Given the description of an element on the screen output the (x, y) to click on. 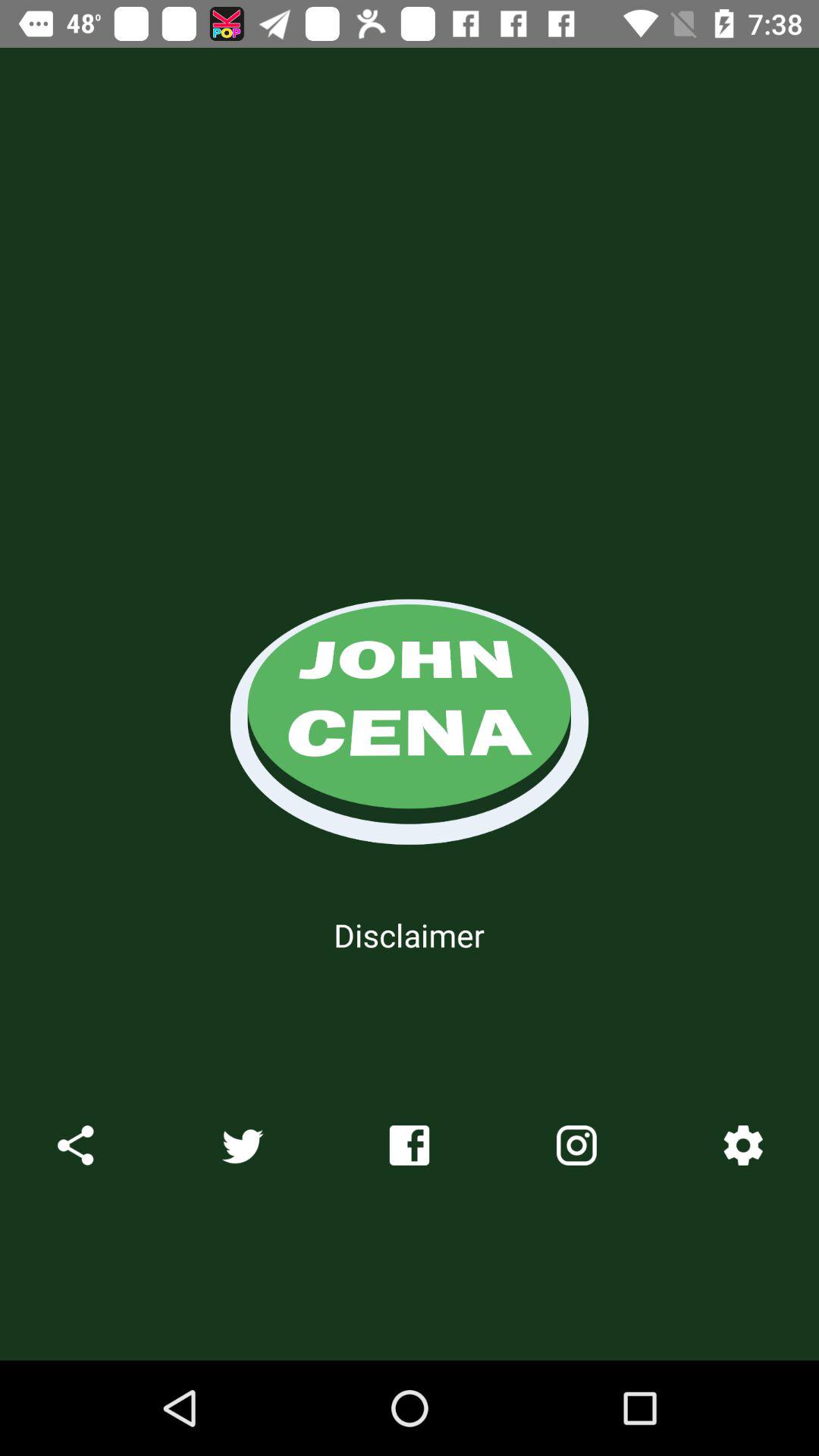
launch the icon above disclaimer icon (409, 703)
